Given the description of an element on the screen output the (x, y) to click on. 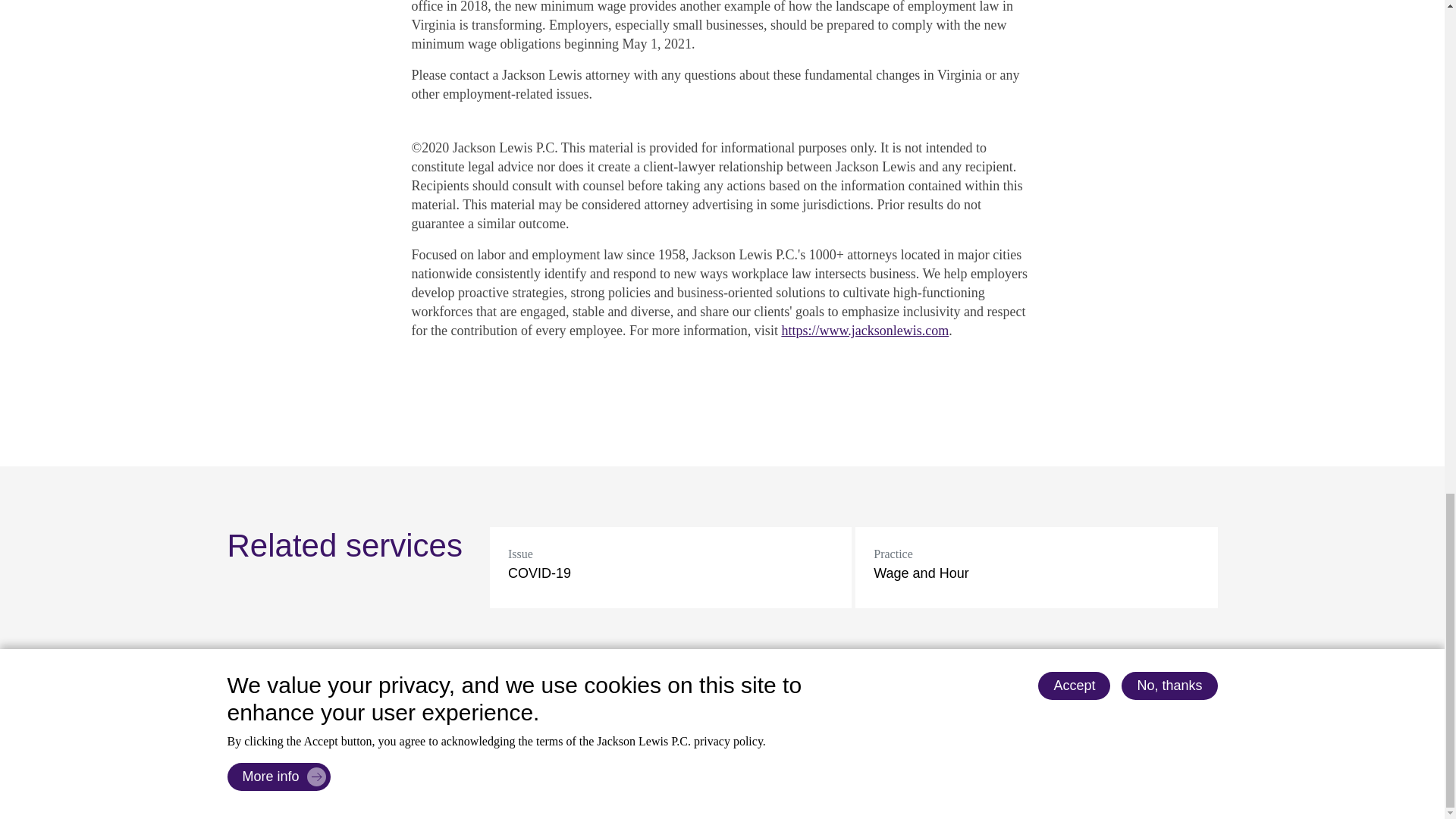
Accessibility Statement (693, 792)
Back to top (278, 701)
Contact Us (406, 792)
Vimeo (1202, 779)
Disclaimer, Privacy and Copyright (534, 792)
